Given the description of an element on the screen output the (x, y) to click on. 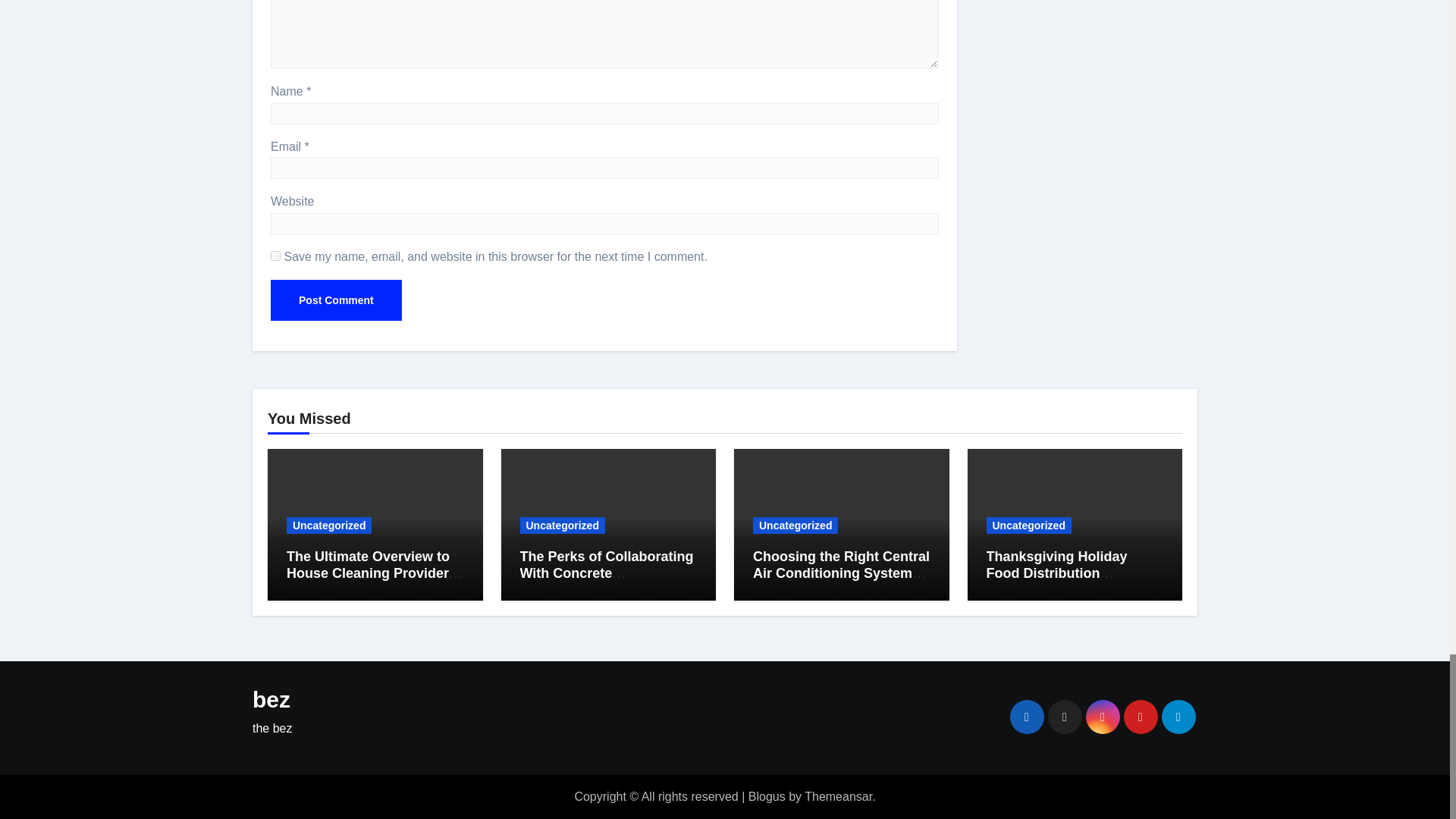
yes (275, 255)
Post Comment (335, 300)
